Given the description of an element on the screen output the (x, y) to click on. 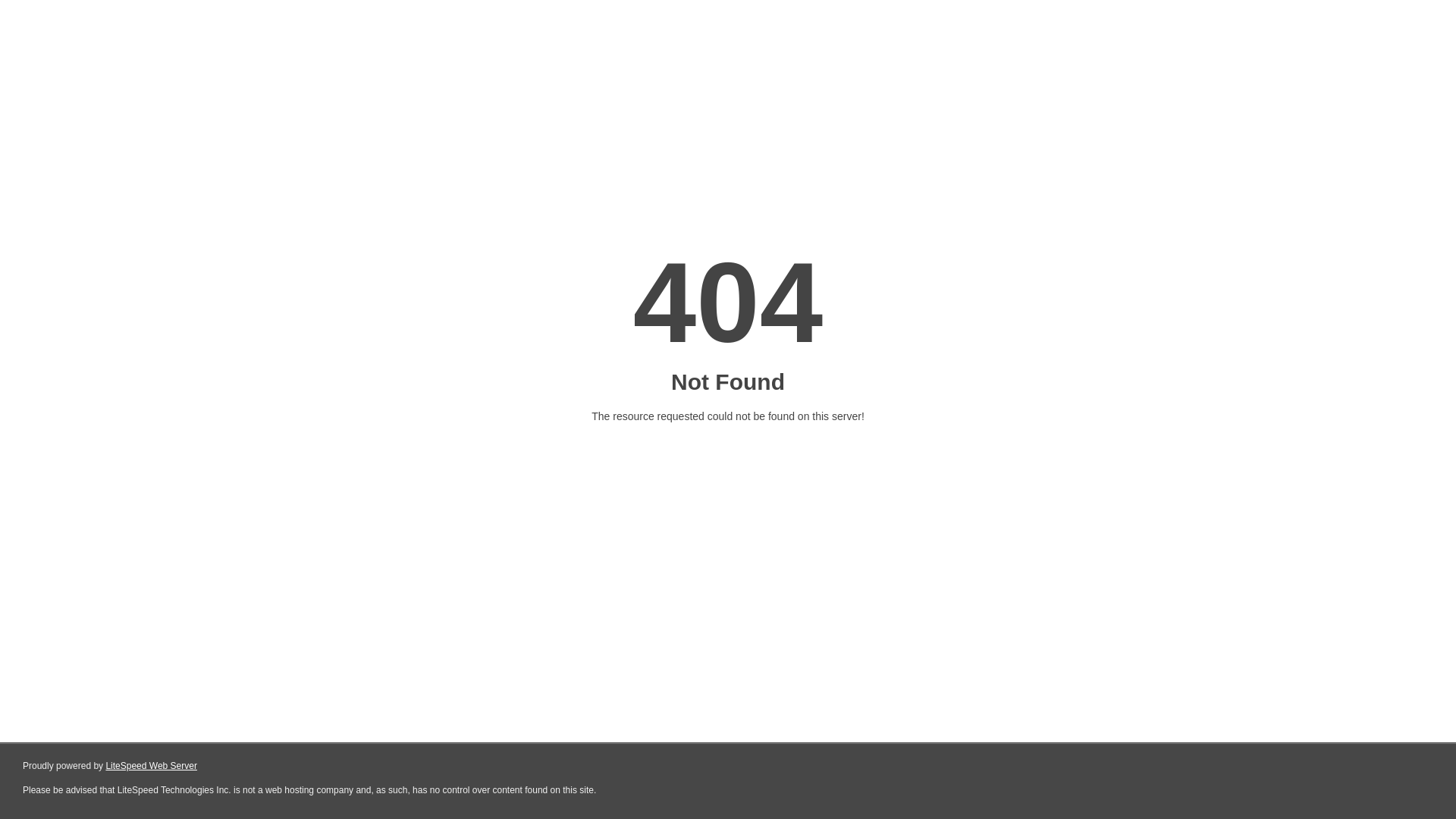
LiteSpeed Web Server Element type: text (151, 765)
